Given the description of an element on the screen output the (x, y) to click on. 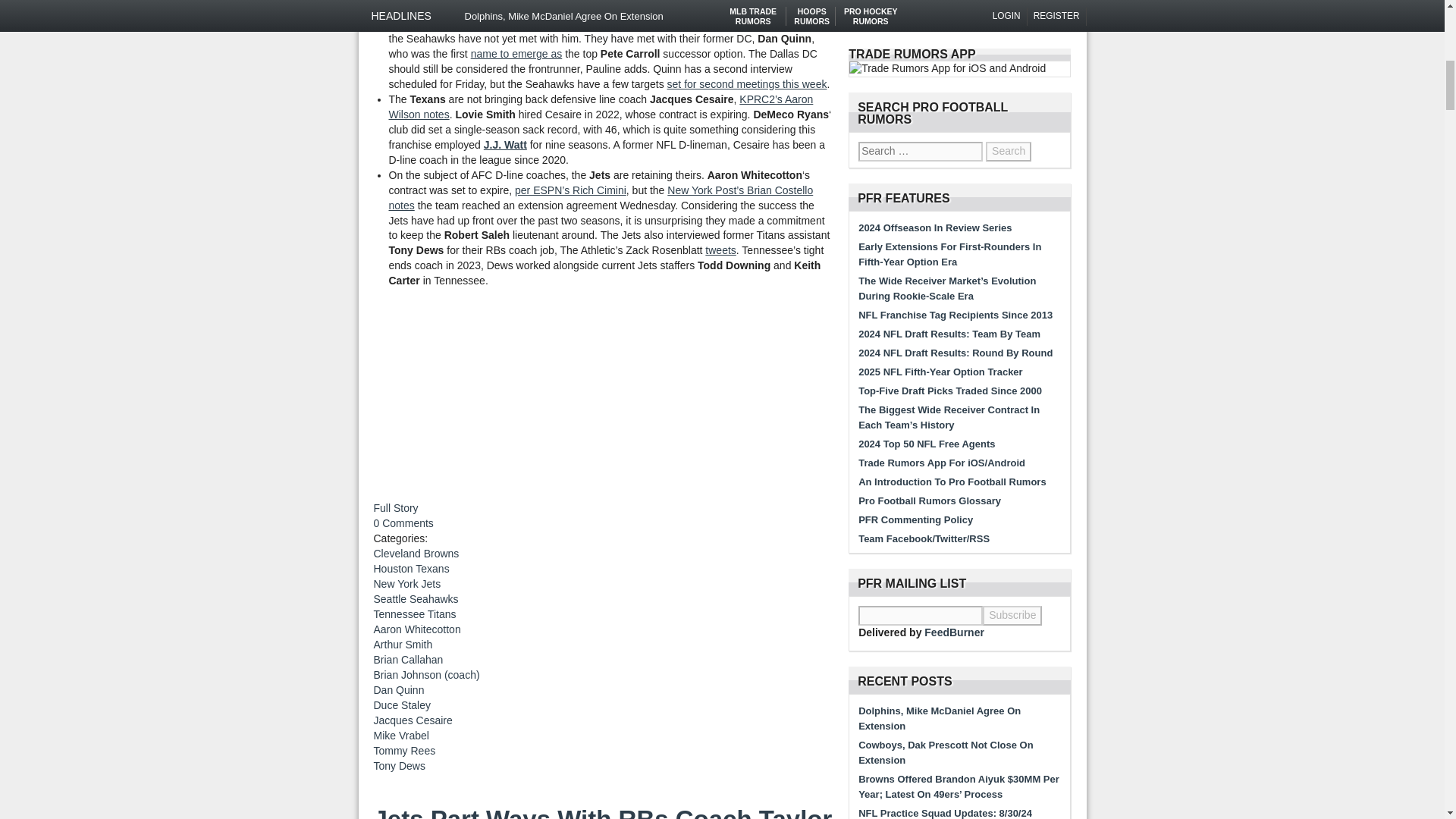
View all posts in Tony Dews (398, 766)
View all posts in Tommy Rees (403, 750)
View all posts in Brian Callahan (407, 659)
View all posts in Jacques Cesaire (411, 720)
View all posts in Arthur Smith (402, 644)
View all posts in Mike Vrabel (400, 735)
Subscribe (1012, 615)
View all posts in Aaron Whitecotton (416, 629)
View all posts in Cleveland Browns (415, 553)
View all posts in New York Jets (406, 583)
